Given the description of an element on the screen output the (x, y) to click on. 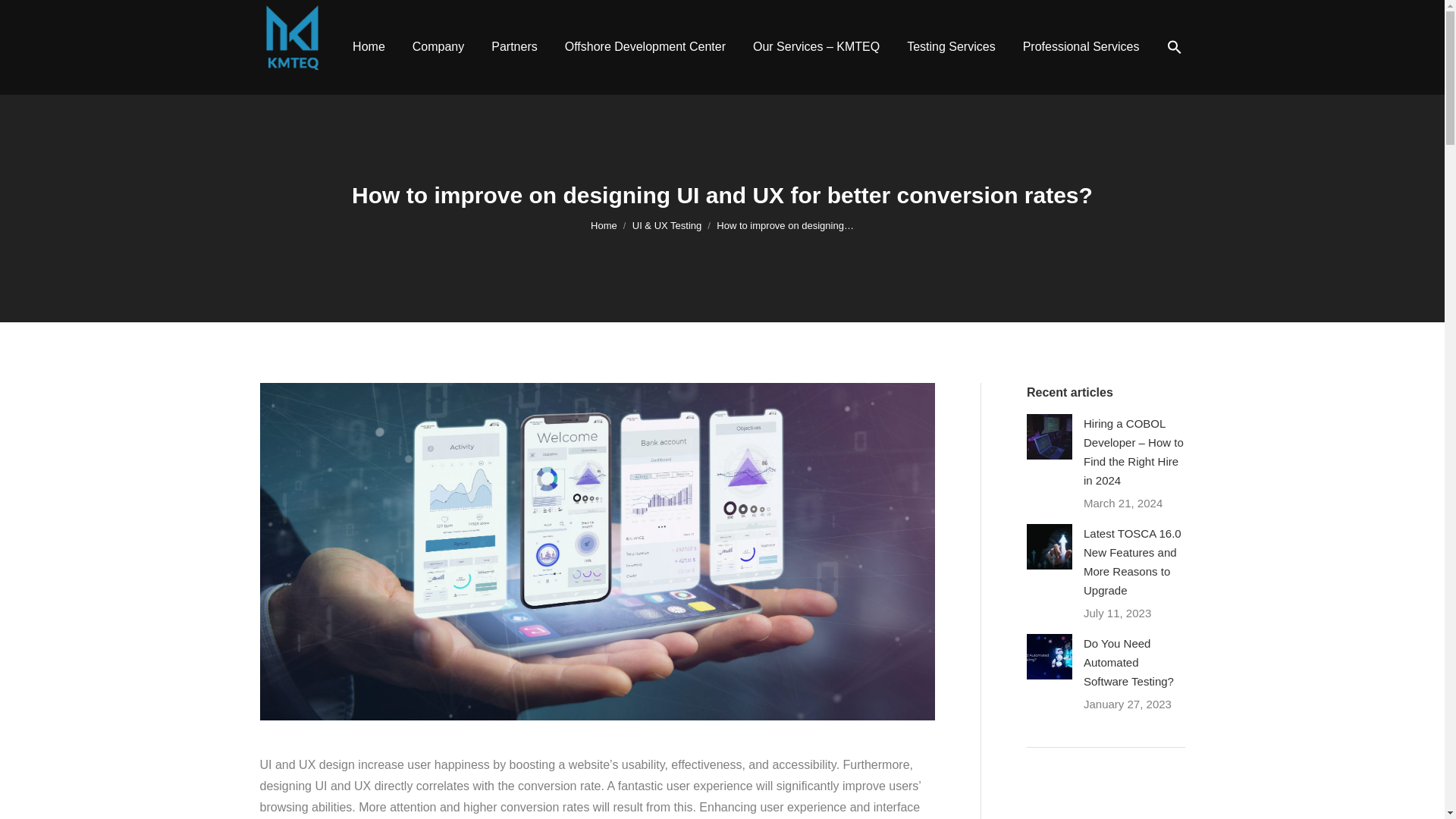
Home (604, 225)
Testing Services (951, 47)
Professional Services (1081, 47)
Offshore Development Center (645, 47)
